Given the description of an element on the screen output the (x, y) to click on. 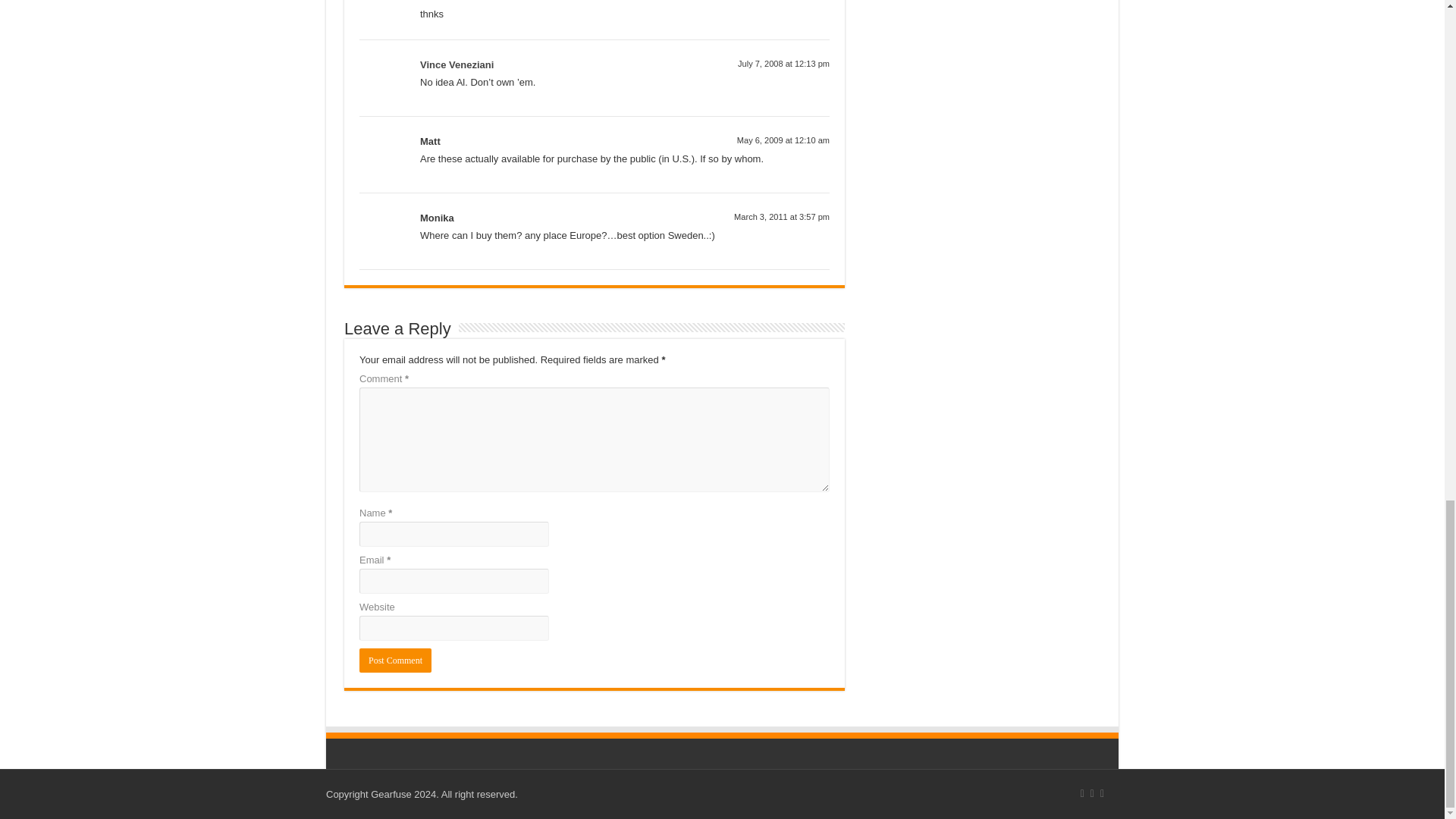
Post Comment (394, 660)
